Given the description of an element on the screen output the (x, y) to click on. 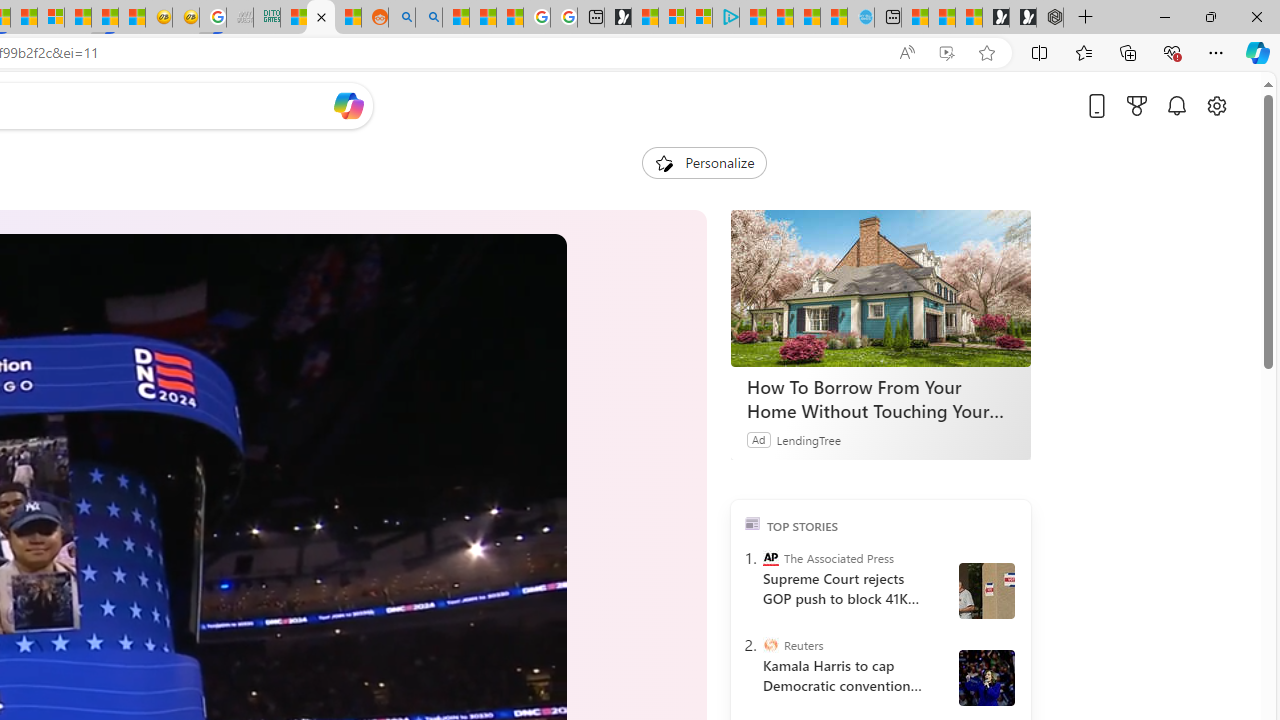
Reuters (770, 645)
